Given the description of an element on the screen output the (x, y) to click on. 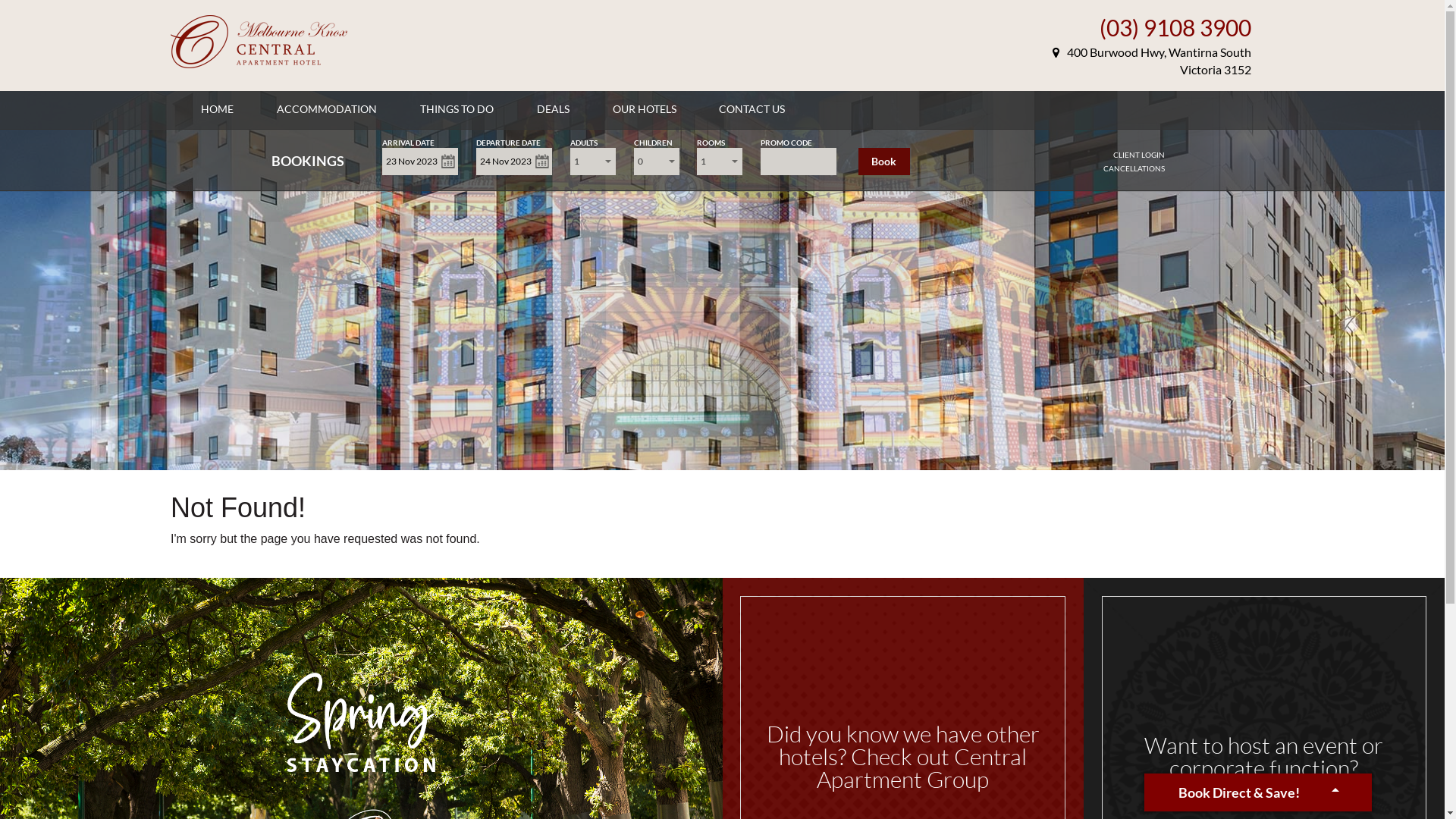
THINGS TO DO Element type: text (456, 109)
CLIENT LOGIN Element type: text (1138, 154)
DEALS Element type: text (552, 109)
CONTACT US Element type: text (751, 109)
Book Element type: text (884, 161)
OUR HOTELS Element type: text (644, 109)
HOME Element type: text (216, 109)
400 Burwood Hwy, Wantirna South
Victoria 3152 Element type: text (1151, 60)
CANCELLATIONS Element type: text (1133, 167)
(03) 9108 3900 Element type: text (1175, 26)
ACCOMMODATION Element type: text (326, 109)
